Given the description of an element on the screen output the (x, y) to click on. 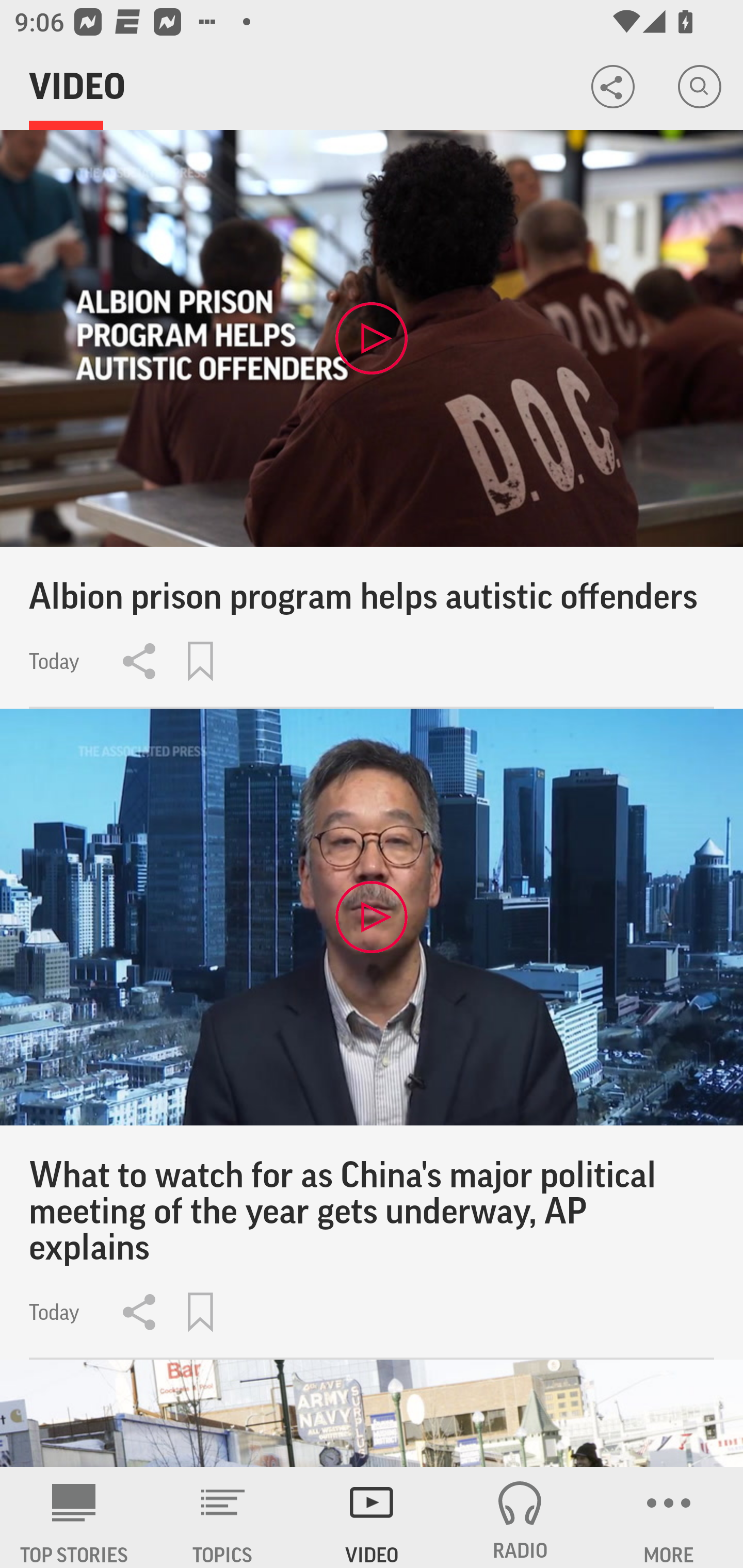
AP News TOP STORIES (74, 1517)
TOPICS (222, 1517)
VIDEO (371, 1517)
RADIO (519, 1517)
MORE (668, 1517)
